Given the description of an element on the screen output the (x, y) to click on. 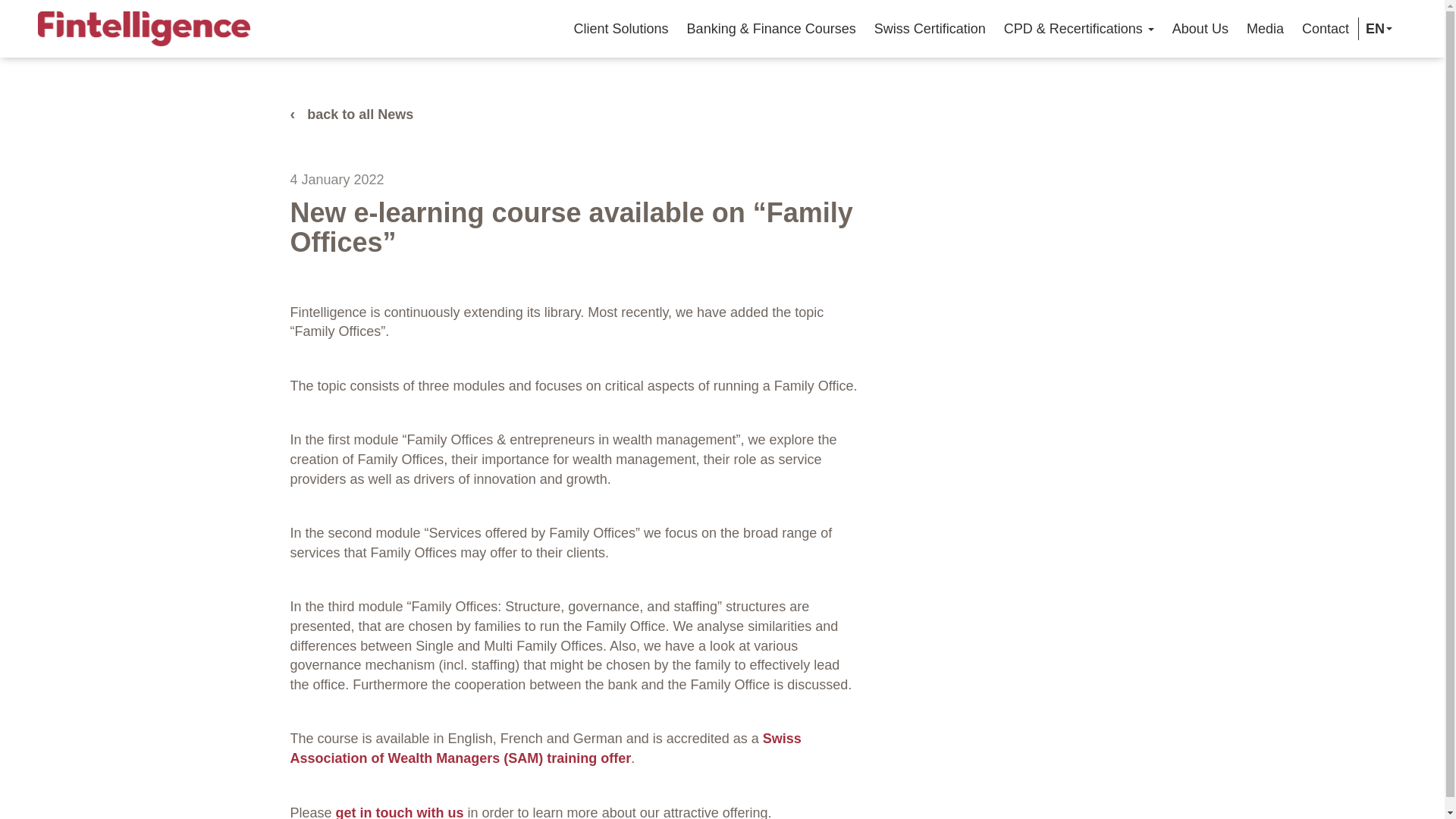
About Us (1200, 28)
Client Solutions (621, 28)
Swiss Certification (929, 28)
Client Solutions (621, 28)
Contact (1325, 28)
Swiss Certification (929, 28)
About Us (1200, 28)
Contact (1325, 28)
 EN (1376, 28)
EN (1376, 28)
Media (1264, 28)
get in touch with us (400, 812)
Media (1264, 28)
